Given the description of an element on the screen output the (x, y) to click on. 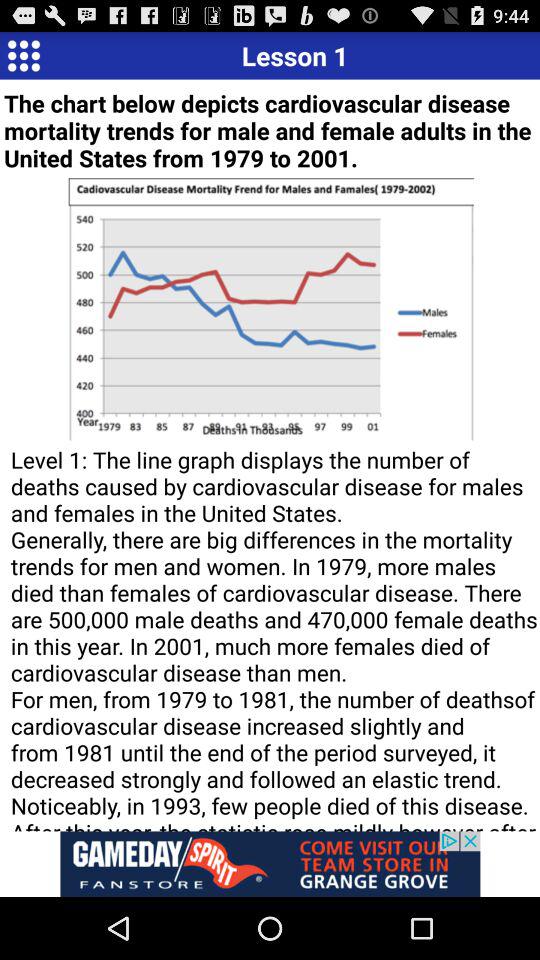
open menu (23, 55)
